Given the description of an element on the screen output the (x, y) to click on. 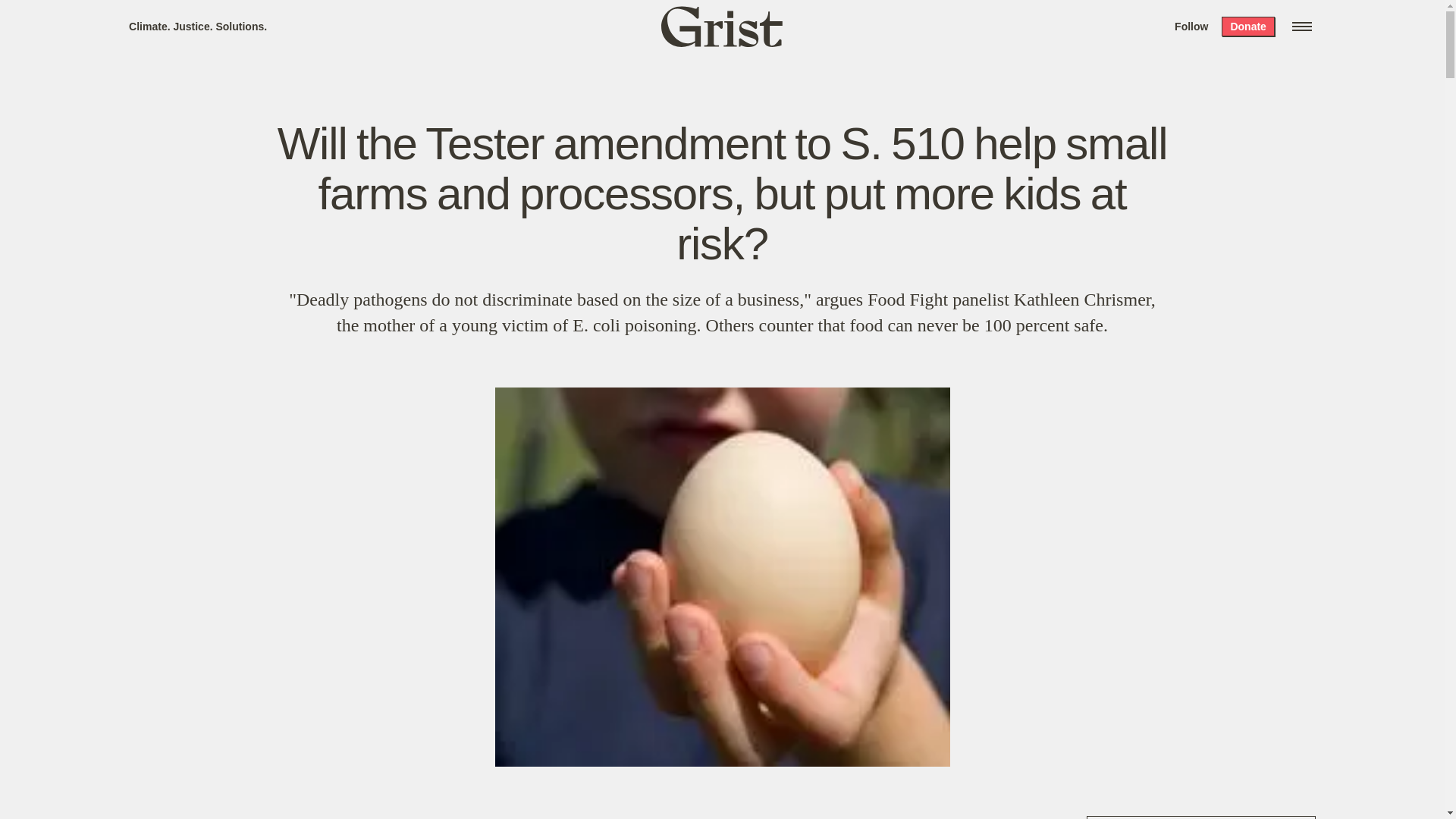
Grist home (722, 25)
Grist staff (154, 818)
Follow (1191, 26)
Search (227, 18)
Donate (1247, 26)
